Given the description of an element on the screen output the (x, y) to click on. 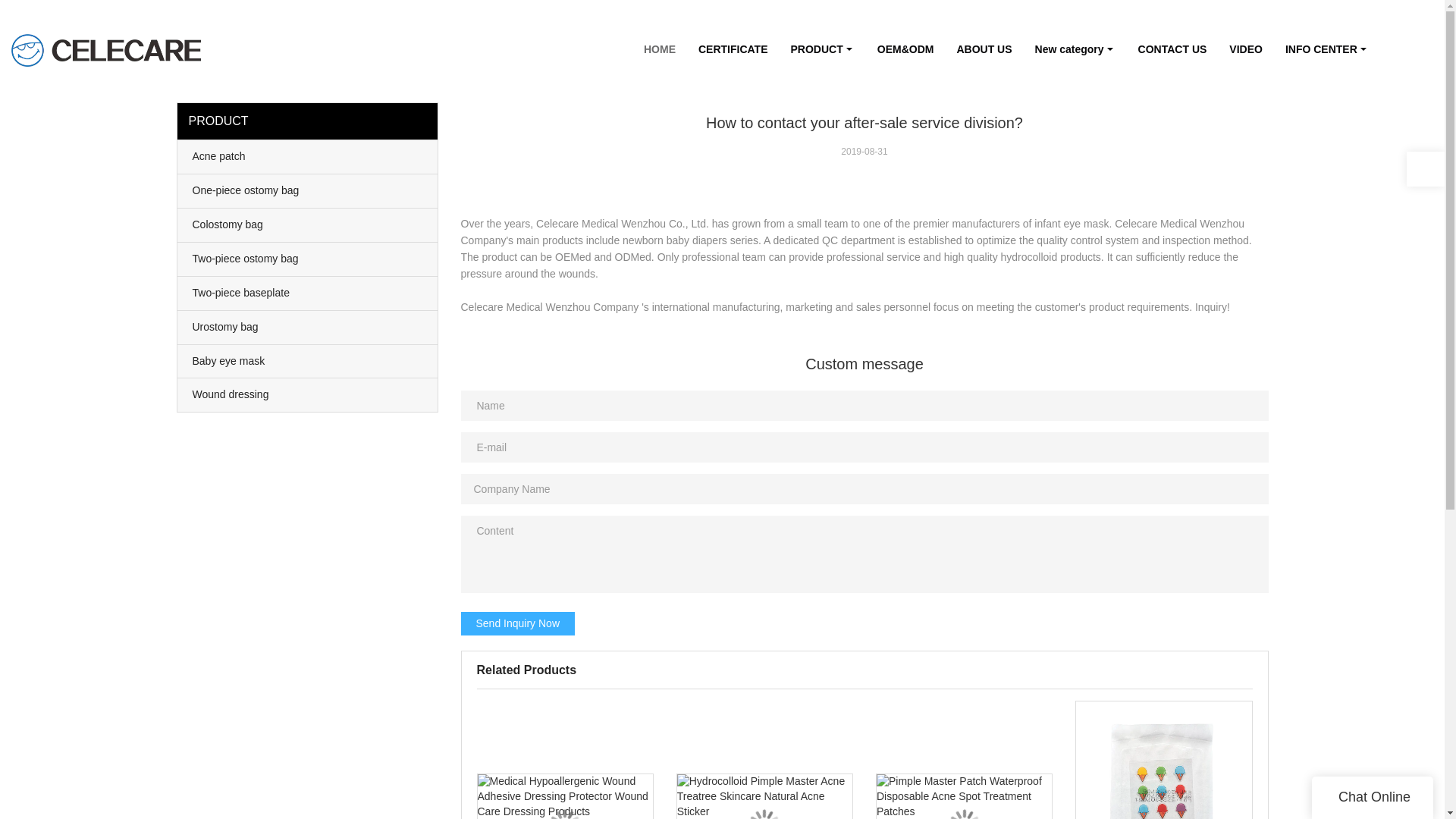
New category (1074, 49)
INFO CENTER (1327, 49)
One-piece ostomy bag (307, 191)
Baby eye mask (307, 360)
Send Inquiry Now (518, 622)
Urostomy bag (307, 327)
Colostomy bag (307, 224)
Acne patch (307, 156)
CONTACT US (1172, 49)
Two-piece ostomy bag (307, 259)
